Given the description of an element on the screen output the (x, y) to click on. 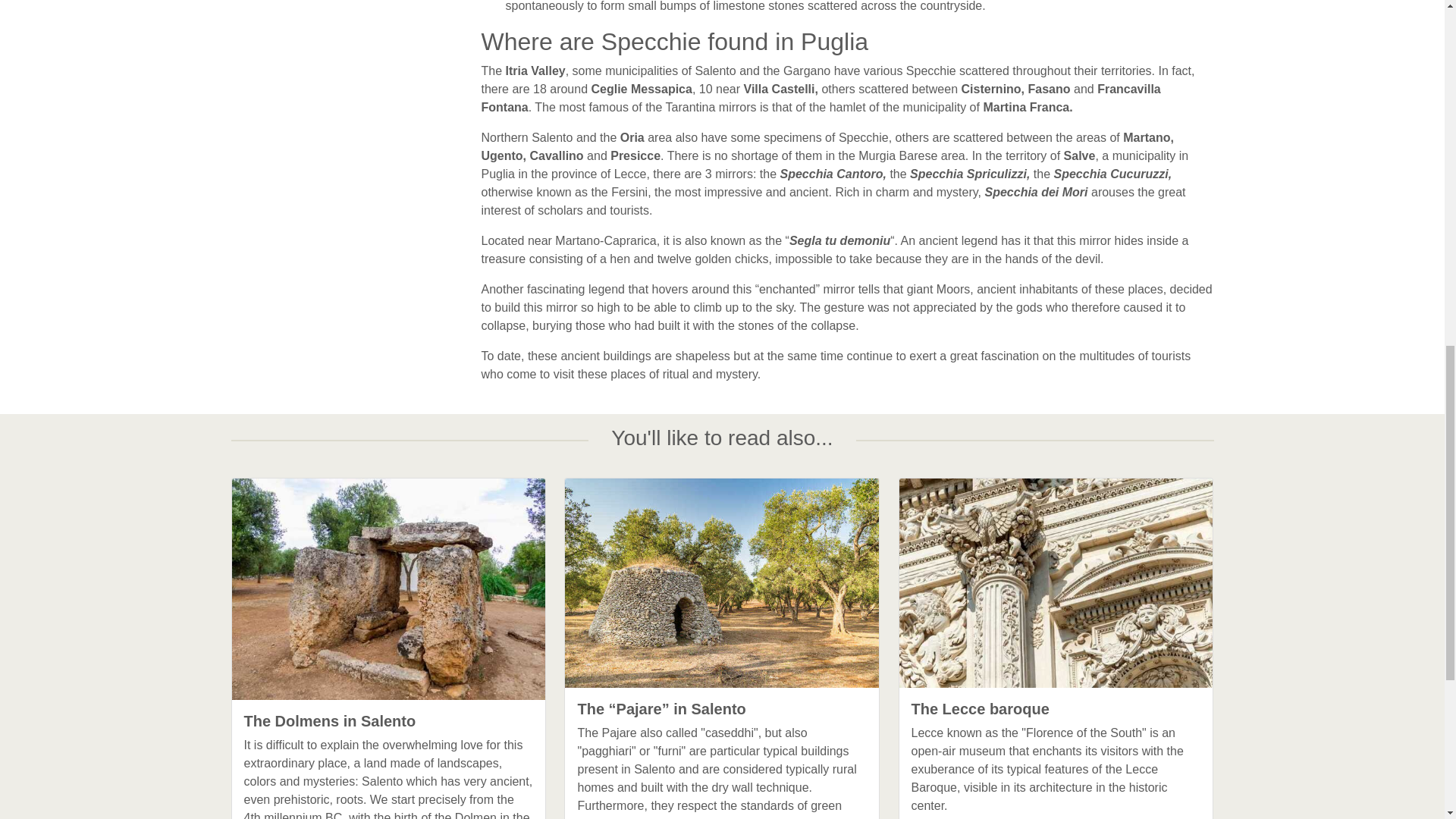
The Lecce baroque (1056, 709)
The Dolmens in Salento (389, 720)
The Lecce baroque (1056, 709)
The Dolmens in Salento (389, 720)
